Given the description of an element on the screen output the (x, y) to click on. 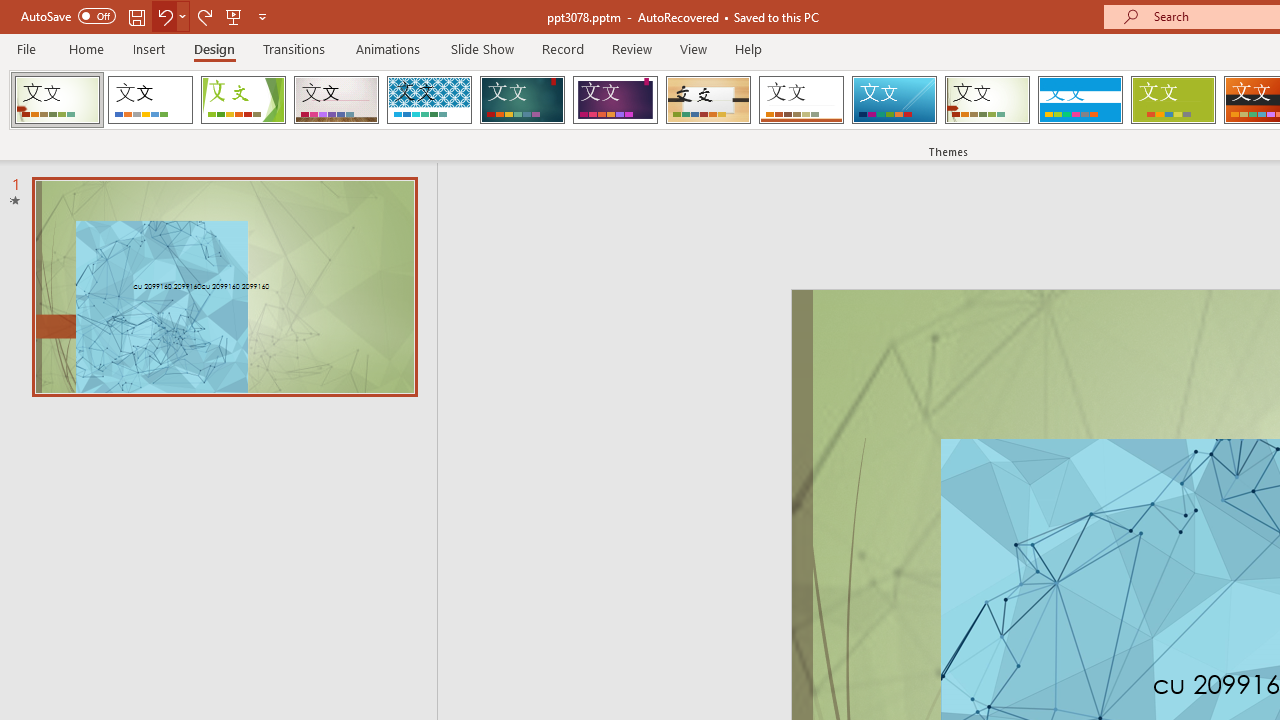
Wisp (987, 100)
Slice (893, 100)
Retrospect (801, 100)
Banded (1080, 100)
